Given the description of an element on the screen output the (x, y) to click on. 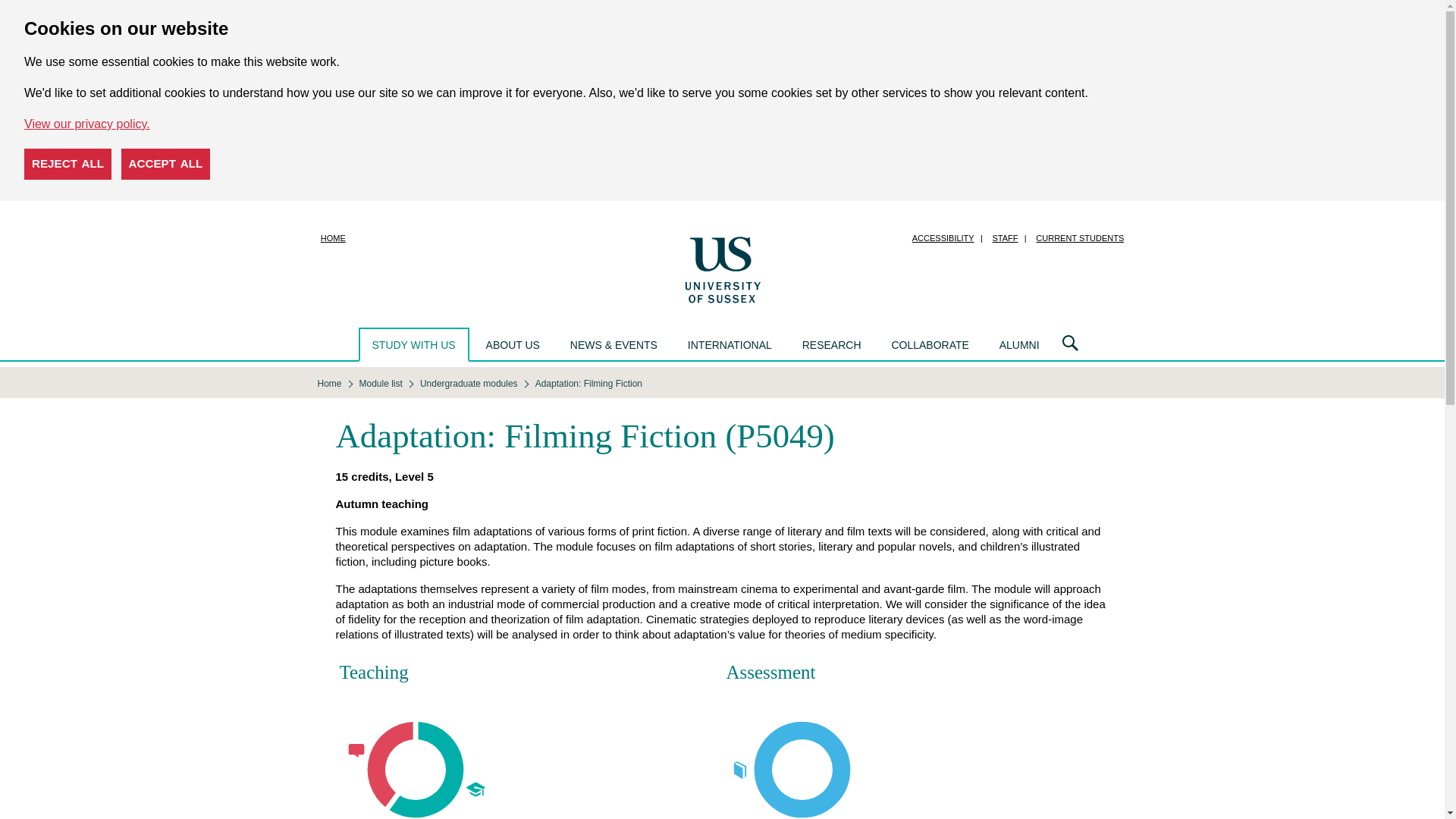
HOME (333, 238)
STAFF (1005, 238)
Search (1070, 343)
ACCEPT ALL (165, 163)
ACCESSIBILITY (942, 238)
STUDY WITH US (413, 344)
REJECT ALL (68, 163)
View our privacy policy. (86, 123)
University of Sussex (722, 268)
